Given the description of an element on the screen output the (x, y) to click on. 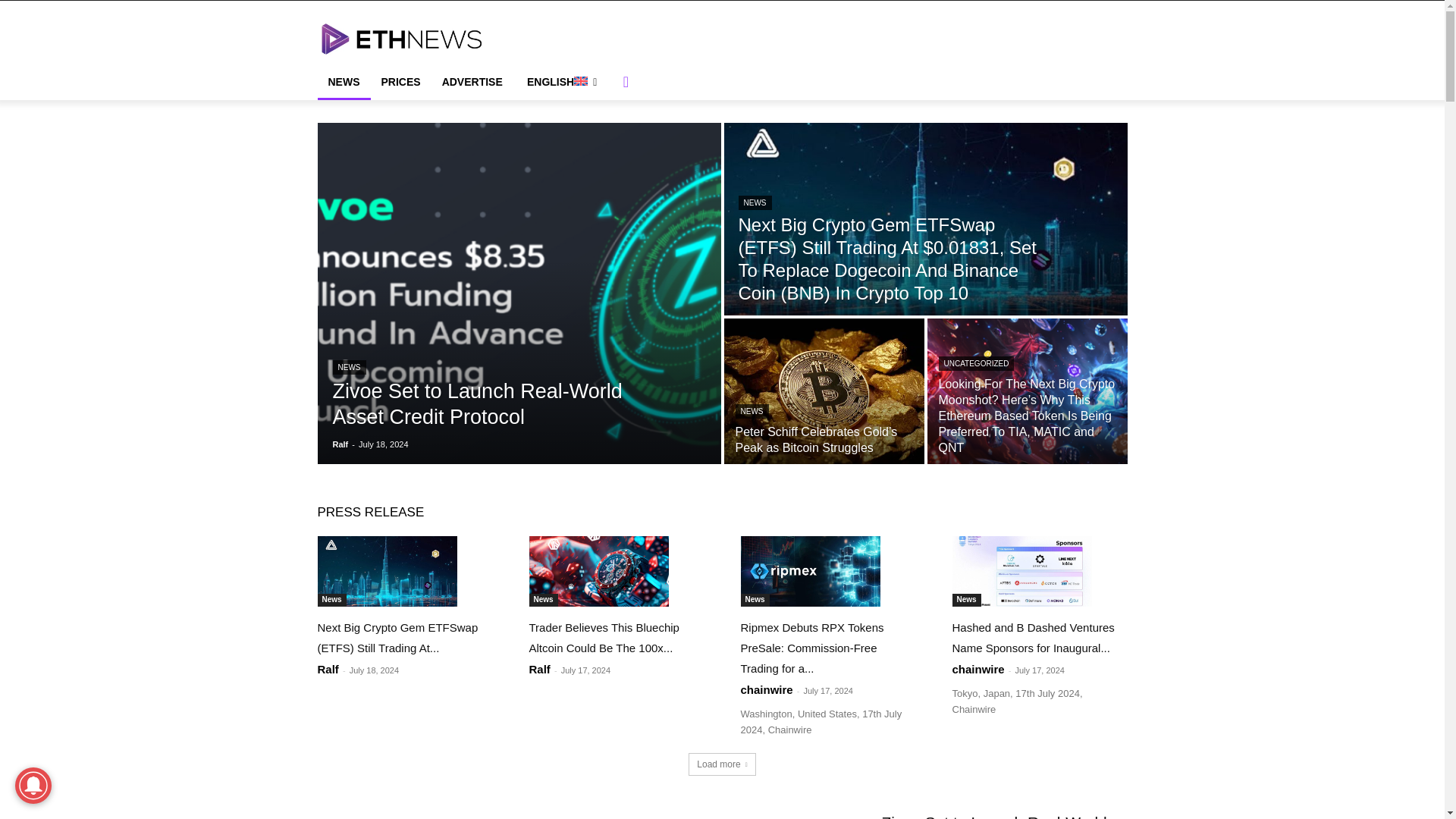
ENGLISH (560, 81)
NEWS (751, 411)
Ralf (339, 443)
Zivoe Set to Launch Real-World Asset Credit Protocol (476, 404)
PRICES (399, 81)
NEWS (754, 202)
English (560, 81)
NEWS (348, 367)
NEWS (343, 81)
UNCATEGORIZED (976, 363)
ADVERTISE (471, 81)
Zivoe Set to Launch Real-World Asset Credit Protocol (476, 404)
